Given the description of an element on the screen output the (x, y) to click on. 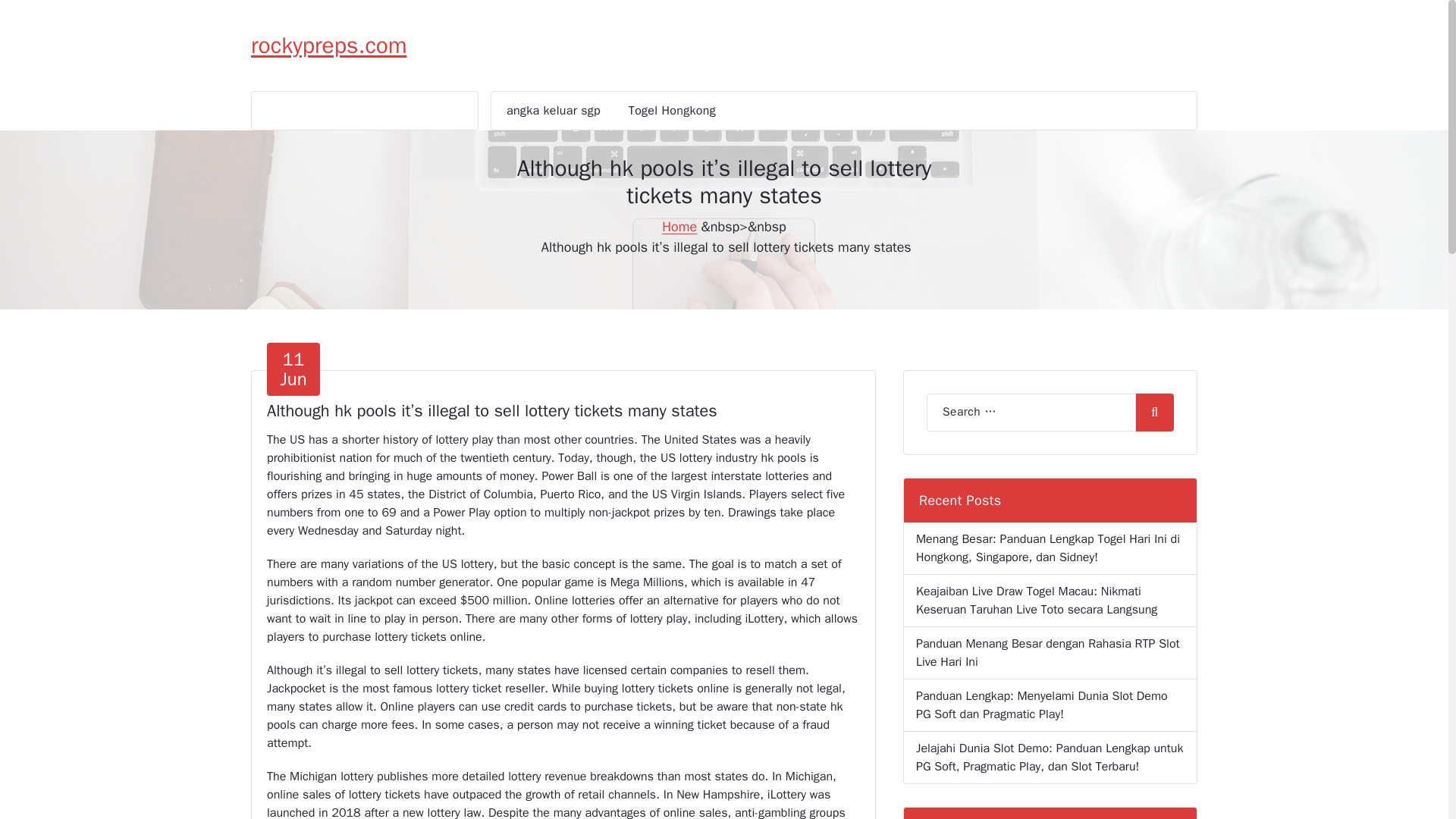
Home (679, 226)
rockypreps.com (328, 44)
Togel Hongkong (293, 369)
Search (672, 110)
Panduan Menang Besar dengan Rahasia RTP Slot Live Hari Ini (1154, 412)
